Given the description of an element on the screen output the (x, y) to click on. 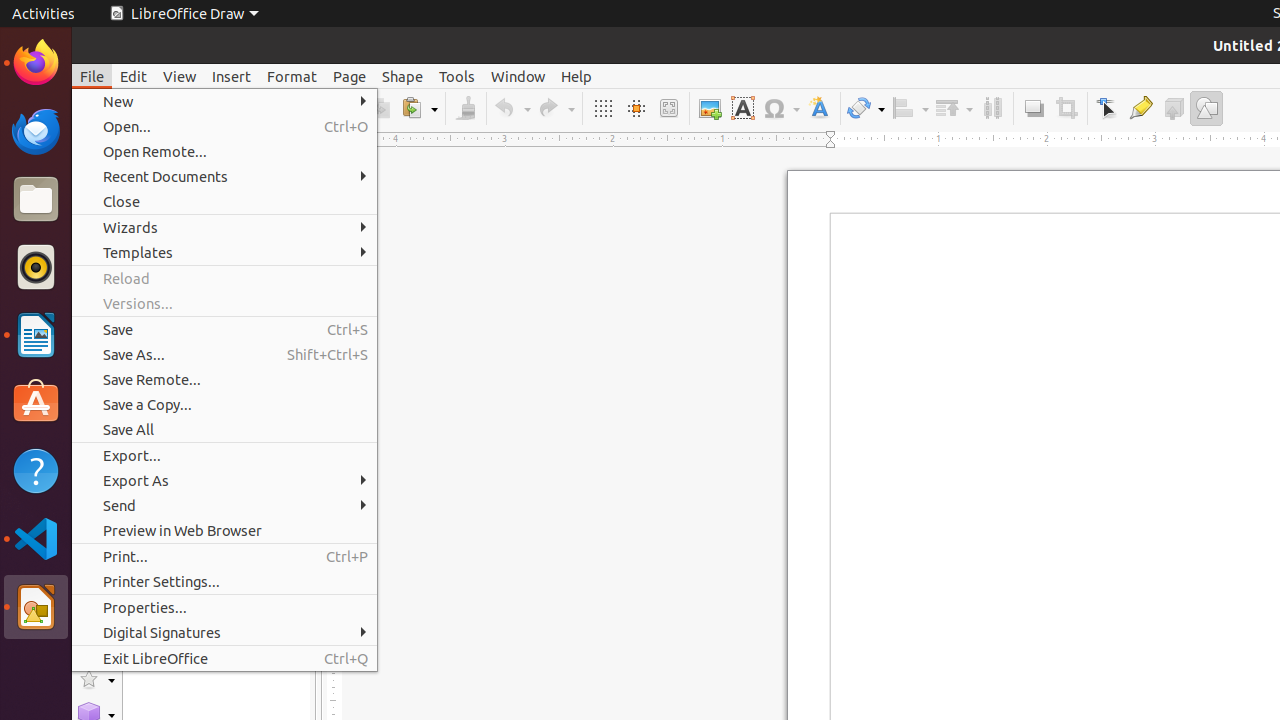
Image Element type: push-button (709, 108)
Zoom & Pan Element type: push-button (668, 108)
Open Remote... Element type: menu-item (224, 151)
Symbol Element type: push-button (781, 108)
New Element type: menu (224, 101)
